Given the description of an element on the screen output the (x, y) to click on. 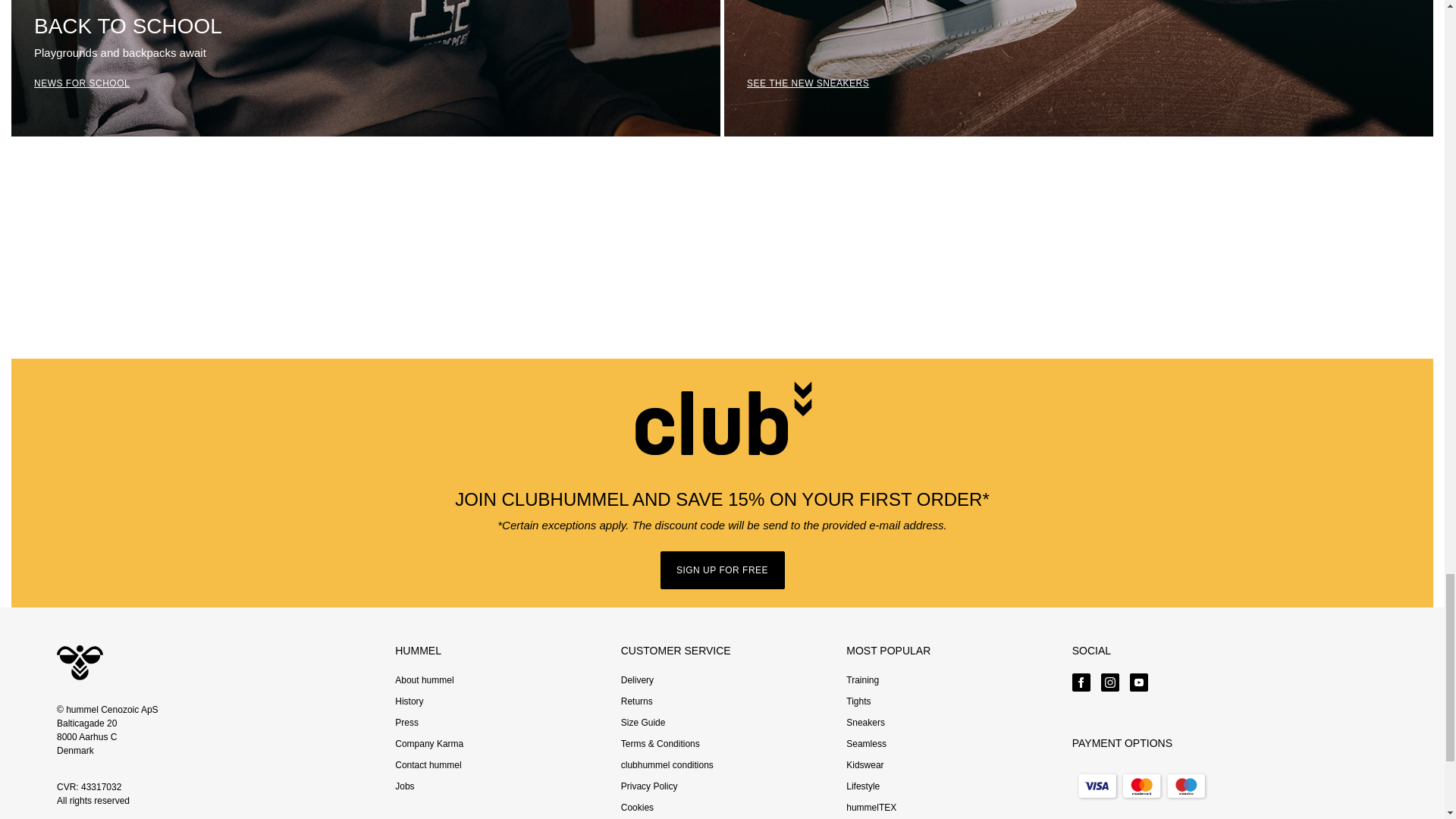
Go to Jobs (403, 786)
Go to Contact (427, 765)
Go to About Hummel (423, 679)
Go to Press (406, 722)
Go to Size Guide (643, 722)
Go to Company Karma (428, 743)
NEWS FOR SCHOOL (368, 68)
Go to Returns (636, 701)
Go to Delivery (637, 679)
Go to History (408, 701)
